Given the description of an element on the screen output the (x, y) to click on. 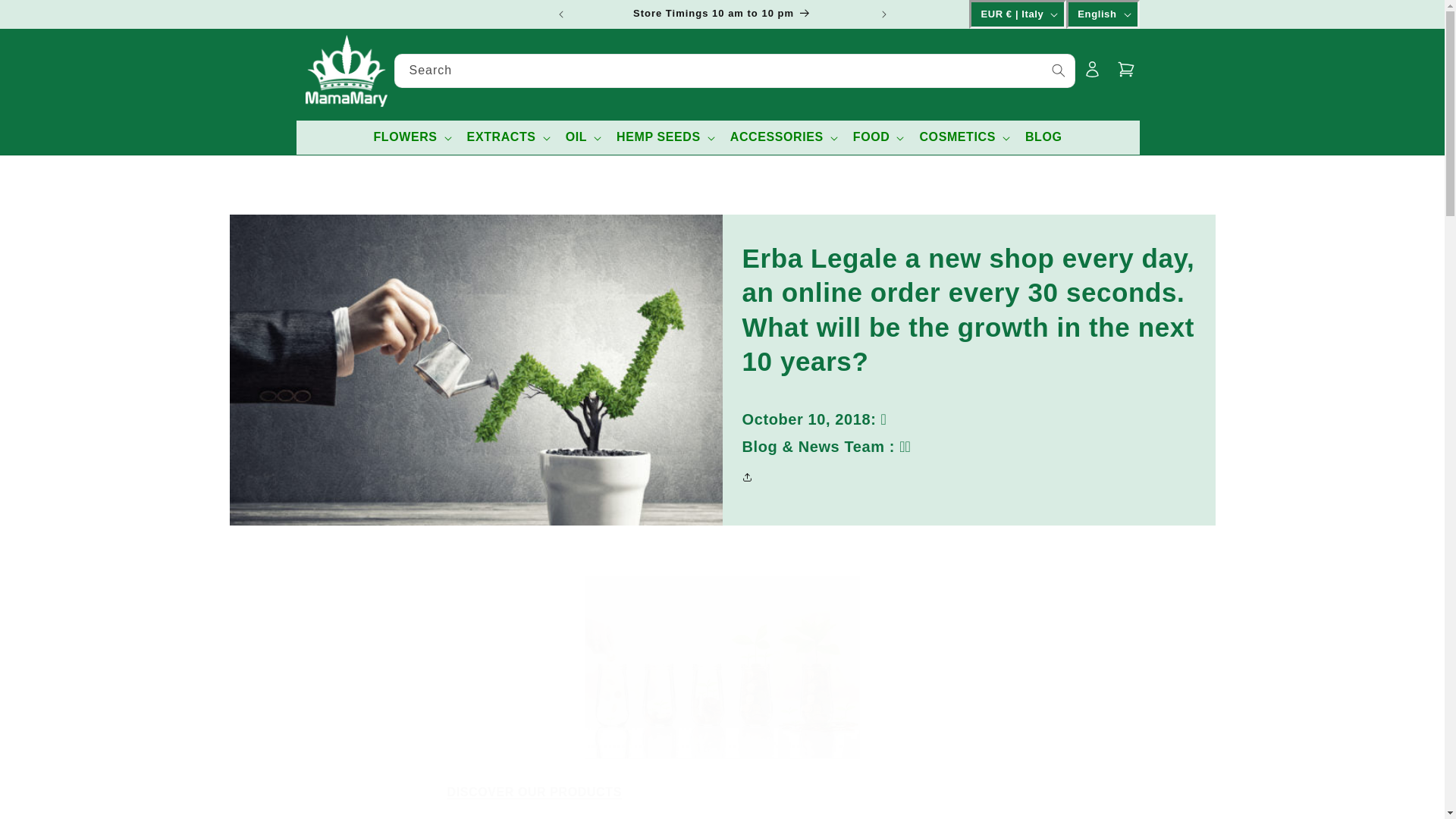
Page 5 (721, 697)
English (1101, 14)
Store Timings 10 am to 10 pm (722, 14)
Skip to content (45, 17)
